Given the description of an element on the screen output the (x, y) to click on. 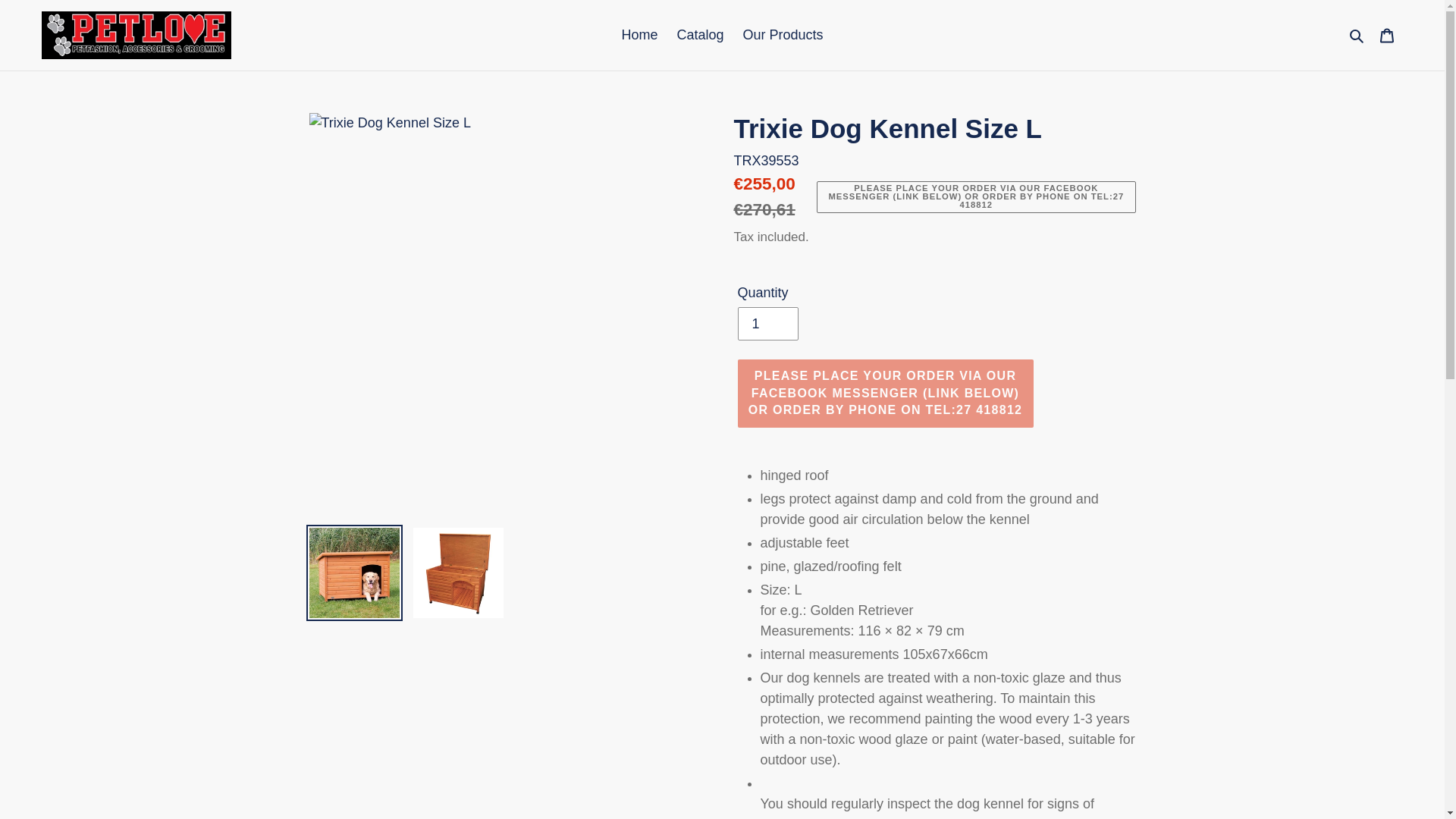
Search (1357, 34)
Catalog (699, 34)
Cart (1387, 35)
Home (638, 34)
1 (766, 323)
Our Products (783, 34)
